Given the description of an element on the screen output the (x, y) to click on. 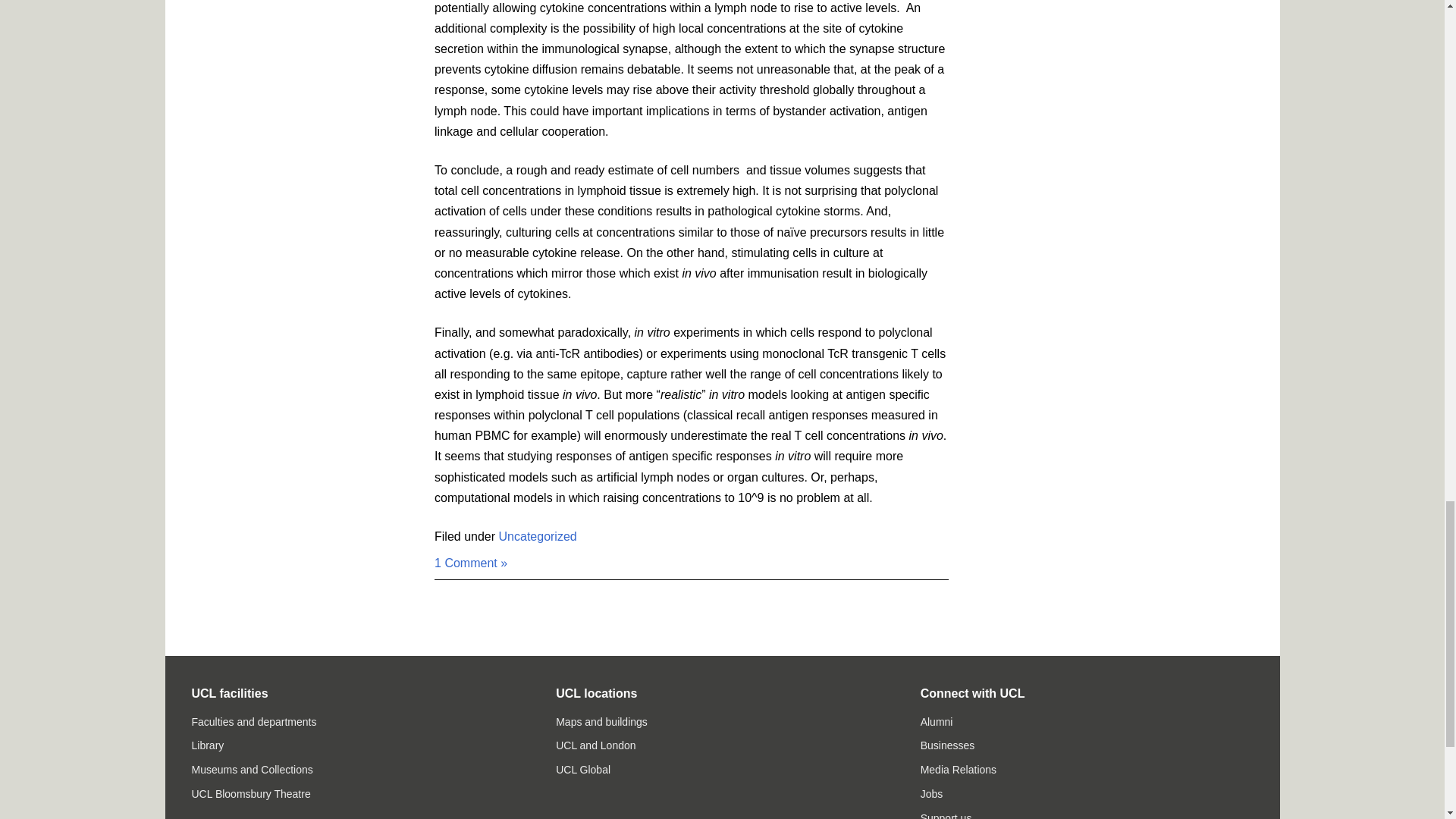
Uncategorized (537, 535)
